Given the description of an element on the screen output the (x, y) to click on. 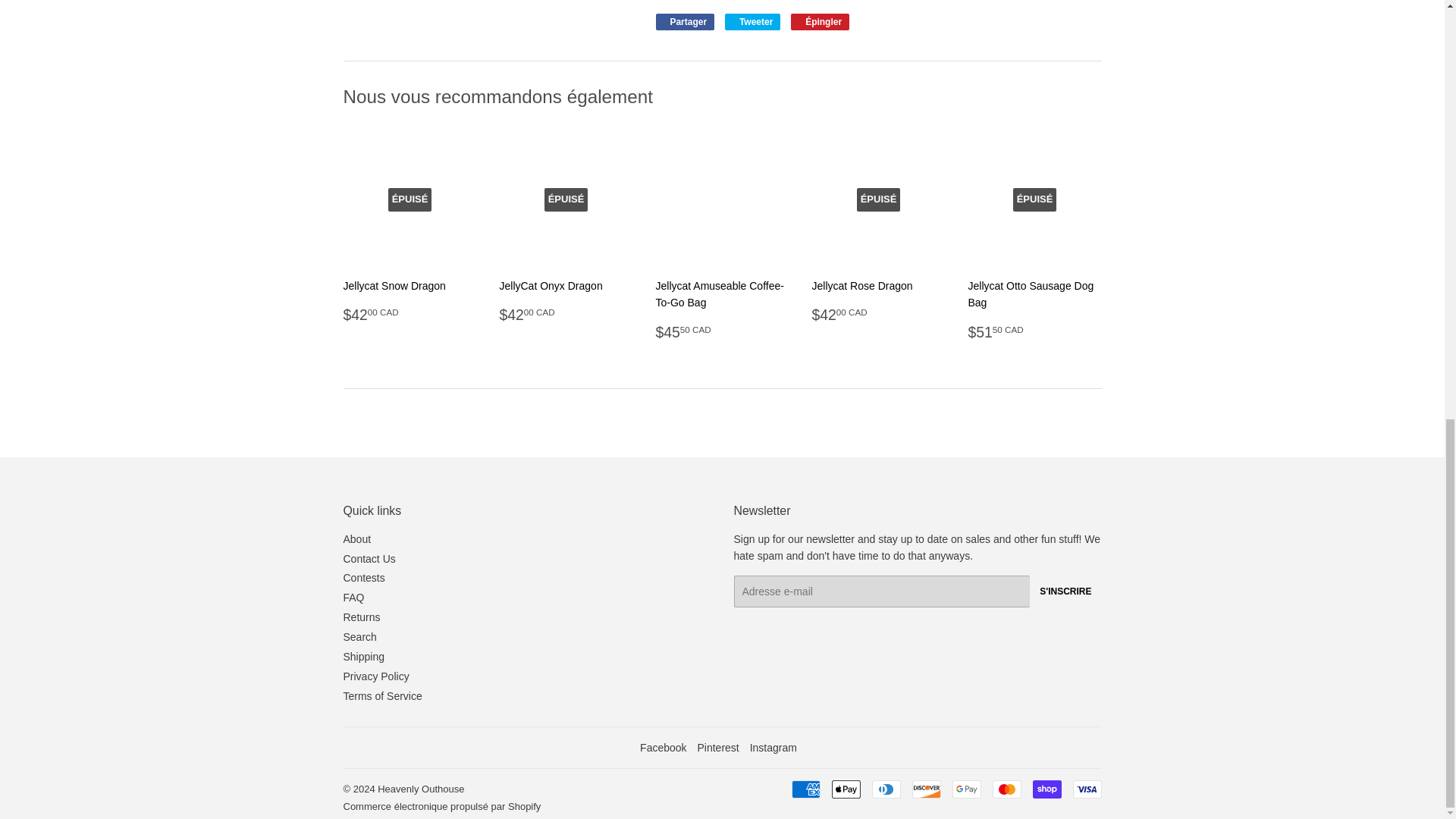
Apple Pay (845, 789)
Google Pay (966, 789)
Diners Club (886, 789)
Visa (1085, 789)
Mastercard (1005, 789)
Tweeter sur Twitter (752, 21)
Shop Pay (1046, 789)
Heavenly Outhouse sur Facebook (662, 747)
Heavenly Outhouse sur Instagram (772, 747)
Discover (925, 789)
